Given the description of an element on the screen output the (x, y) to click on. 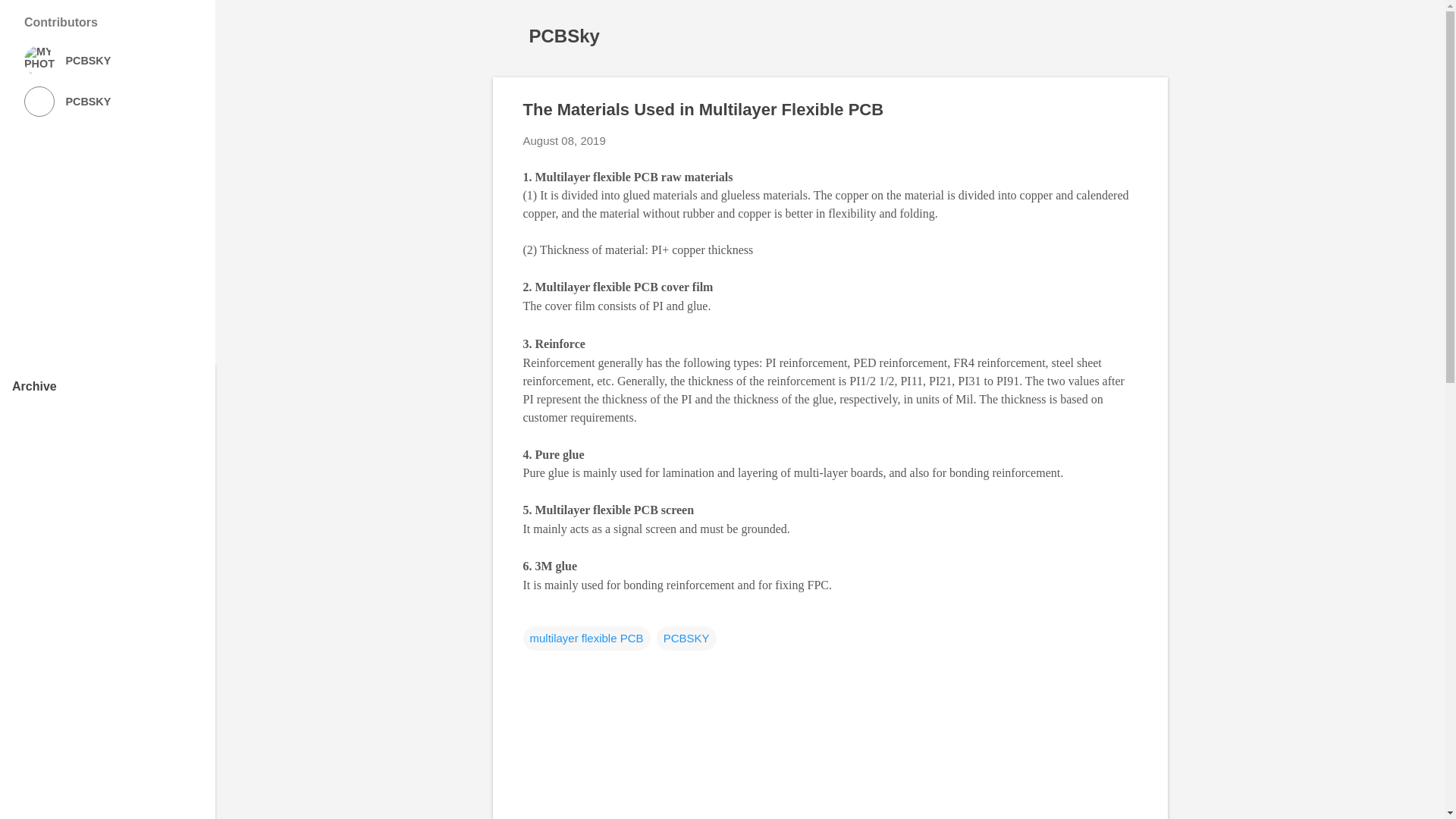
PCBSKY (107, 60)
PCBSKY (107, 101)
PCBSKY (686, 638)
PCBSky (564, 35)
permanent link (563, 140)
 Multilayer flexible PCB (595, 175)
August 08, 2019 (563, 140)
multilayer flexible PCB (586, 638)
